Given the description of an element on the screen output the (x, y) to click on. 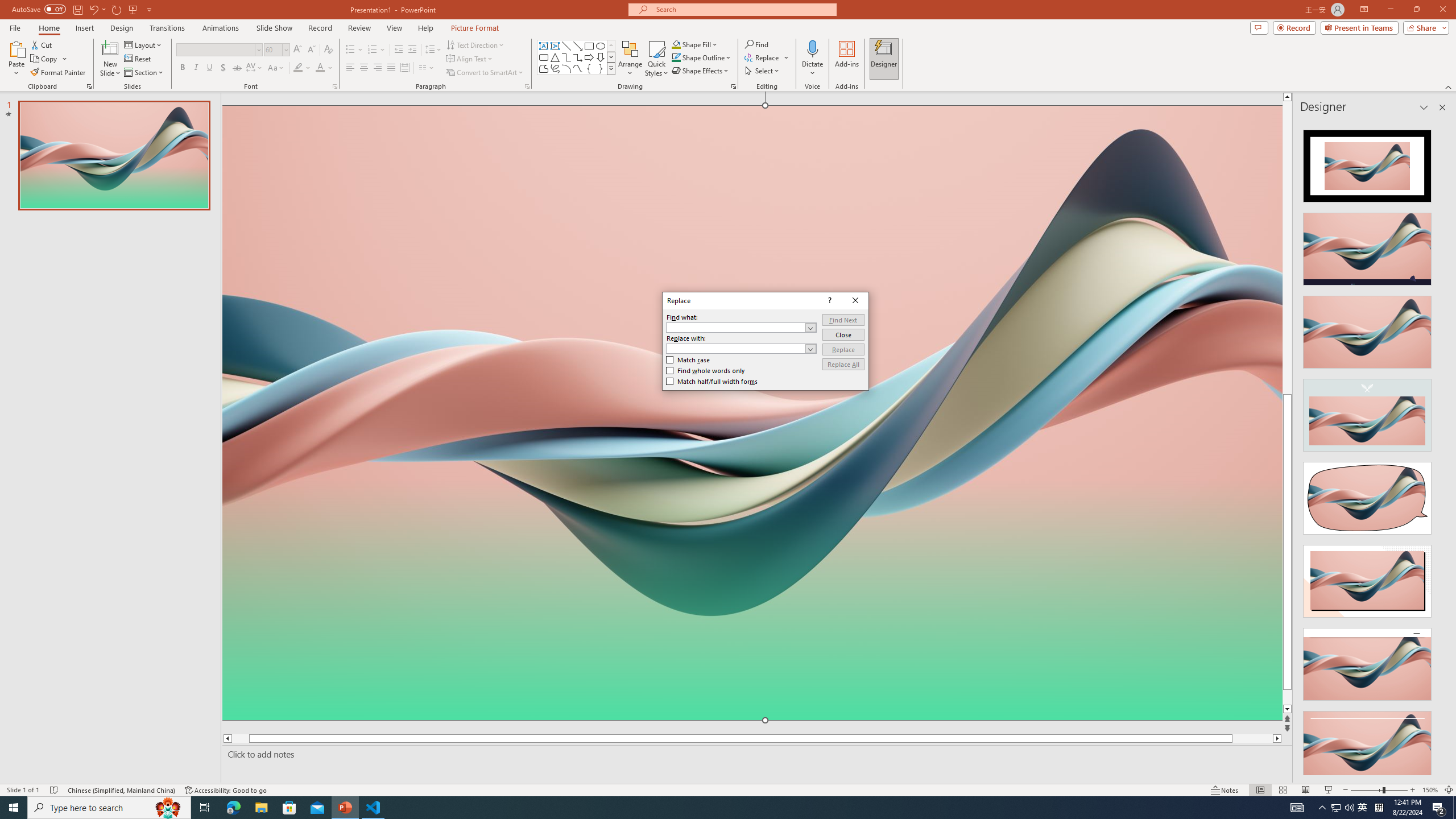
Replace (842, 349)
